Given the description of an element on the screen output the (x, y) to click on. 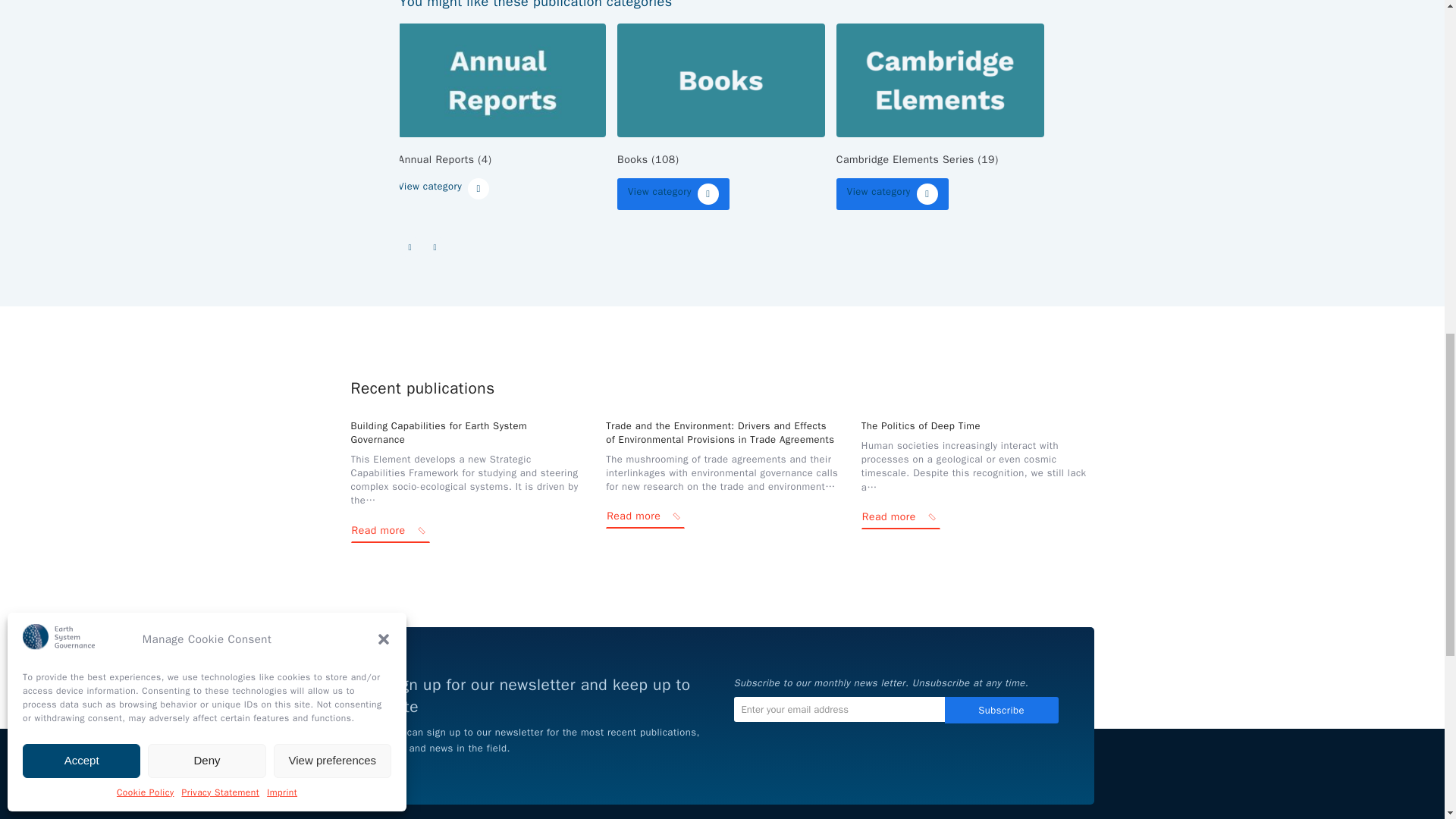
Annual Reports (501, 78)
Subscribe (1001, 709)
Books (721, 78)
Cambridge Elements Series (939, 78)
